Given the description of an element on the screen output the (x, y) to click on. 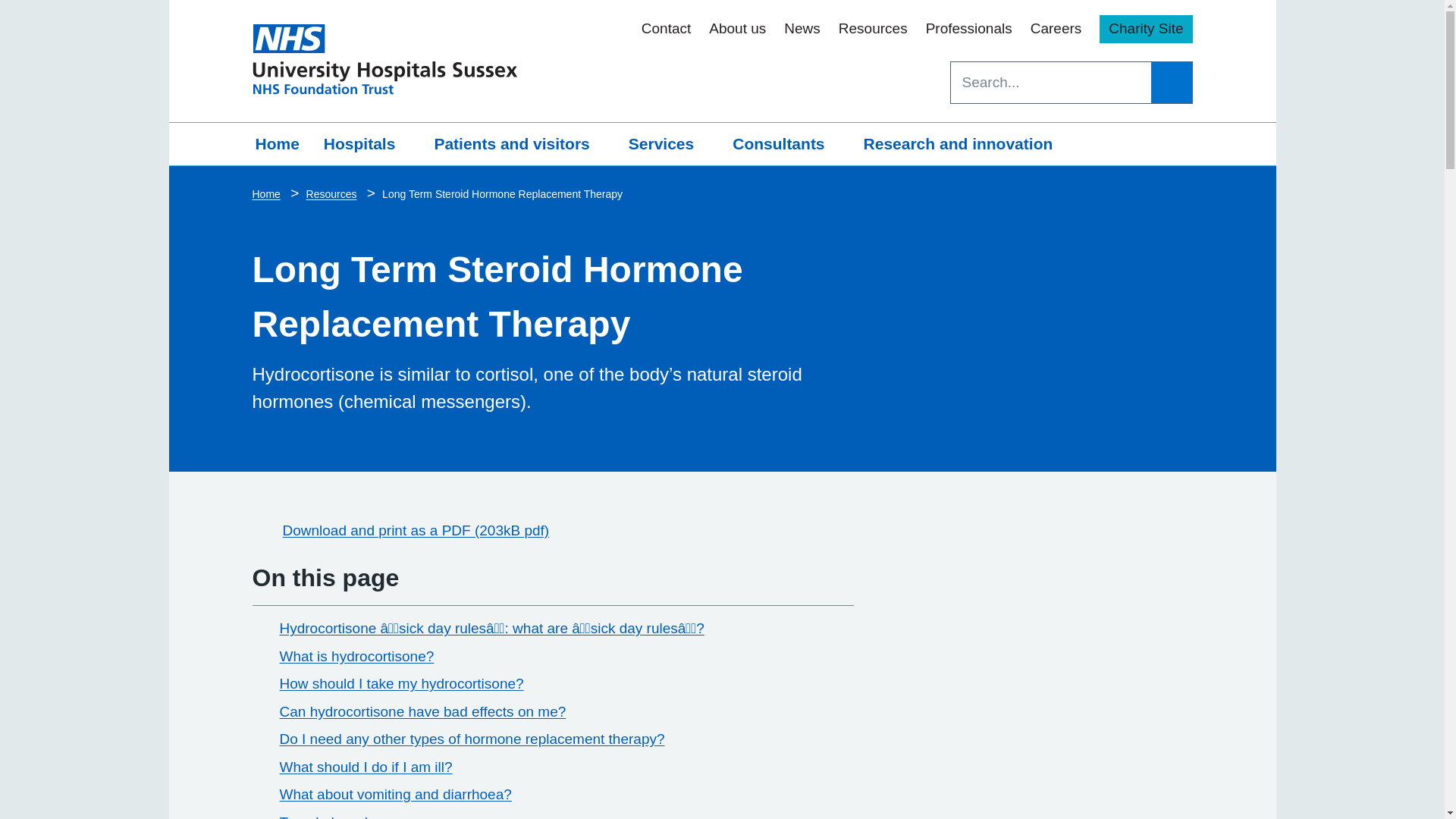
Hospitals (366, 144)
Patients and visitors (518, 144)
Careers (1055, 29)
About us (737, 29)
Contact (666, 29)
Resources (872, 29)
Services (667, 144)
Charity Site (1145, 29)
Home (277, 144)
Professionals (968, 29)
